Given the description of an element on the screen output the (x, y) to click on. 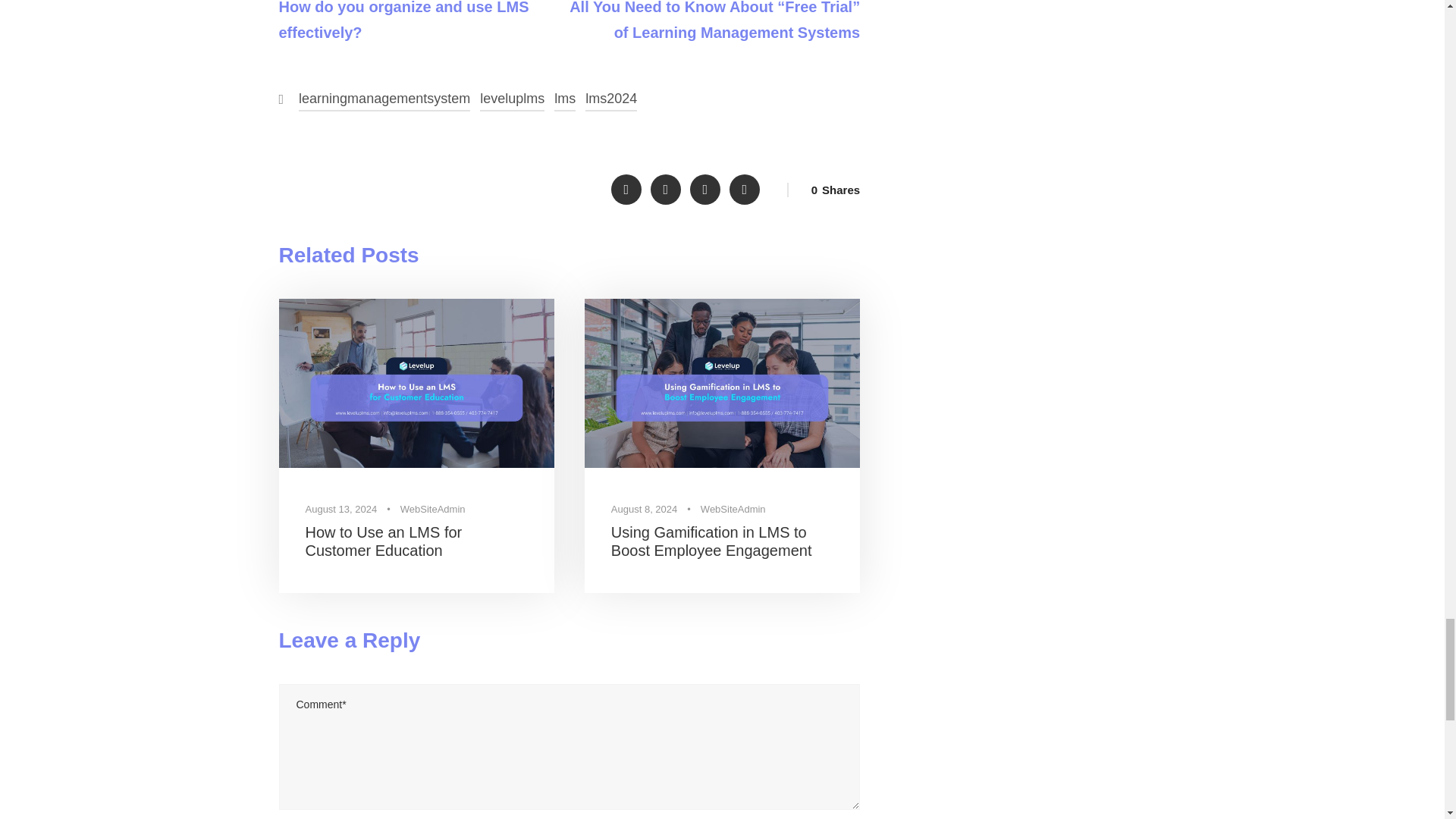
Posts by WebSiteAdmin (432, 509)
Posts by WebSiteAdmin (732, 509)
learningmanagementsystem (384, 99)
Using-Gamification-in-LMS-to-Boost-Employee-Engagement (722, 382)
leveluplms (512, 99)
How do you organize and use LMS effectively? (404, 20)
How-to-Use-an-LMS-for-Customer-Education (416, 382)
